Given the description of an element on the screen output the (x, y) to click on. 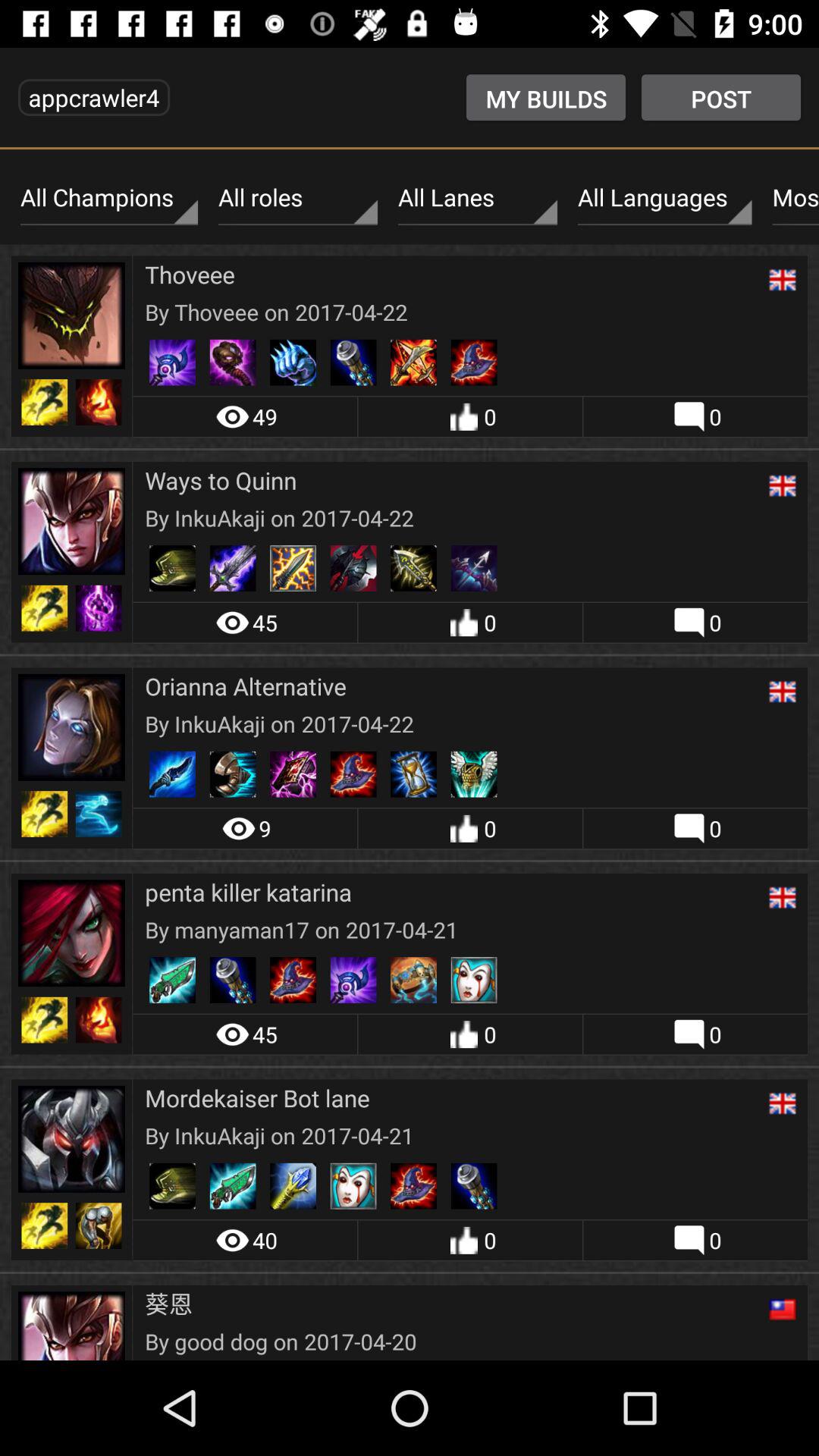
click the post item (720, 97)
